Given the description of an element on the screen output the (x, y) to click on. 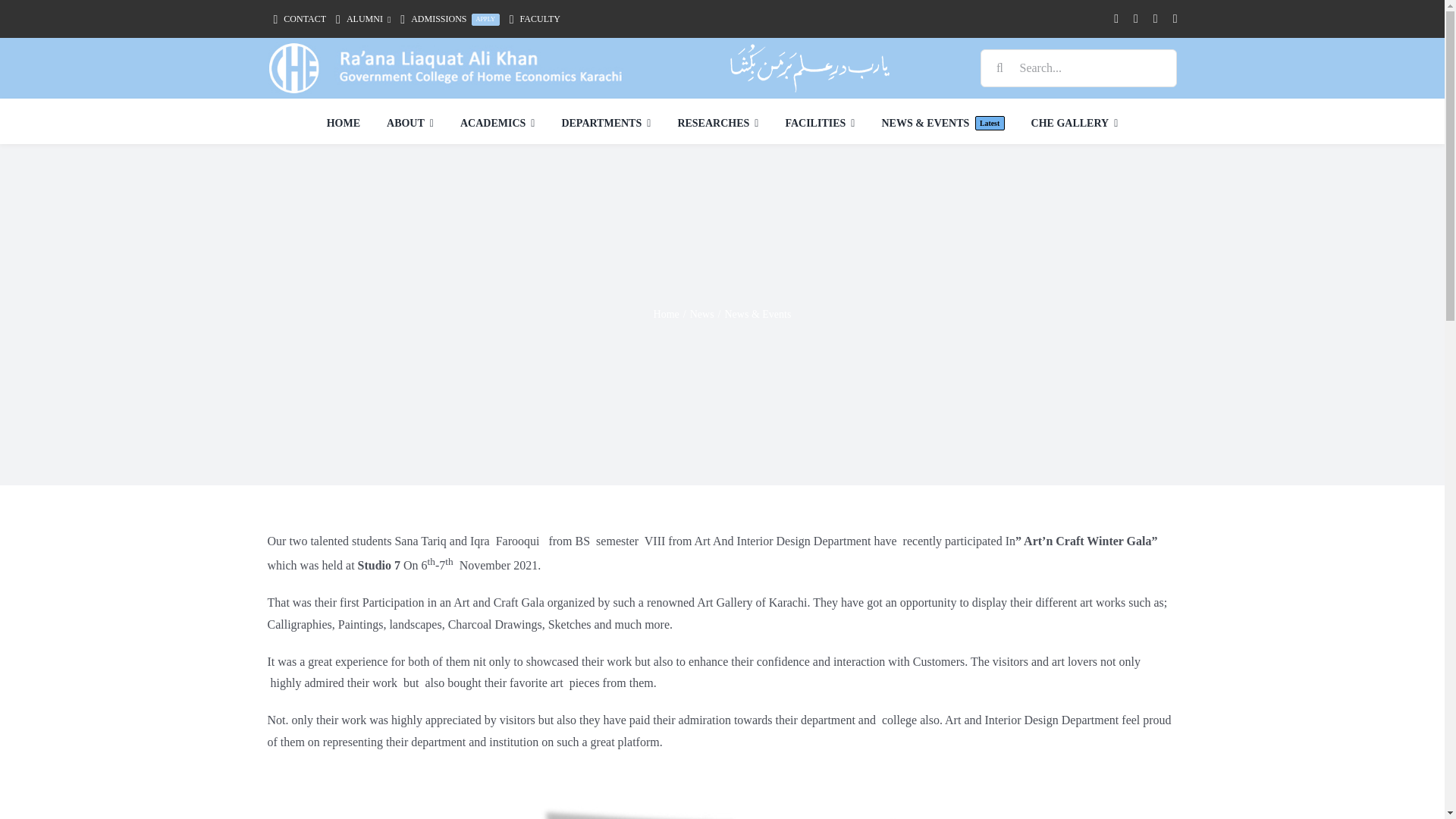
ALUMNI (360, 19)
FACULTY (531, 19)
CONTACT (446, 19)
